Given the description of an element on the screen output the (x, y) to click on. 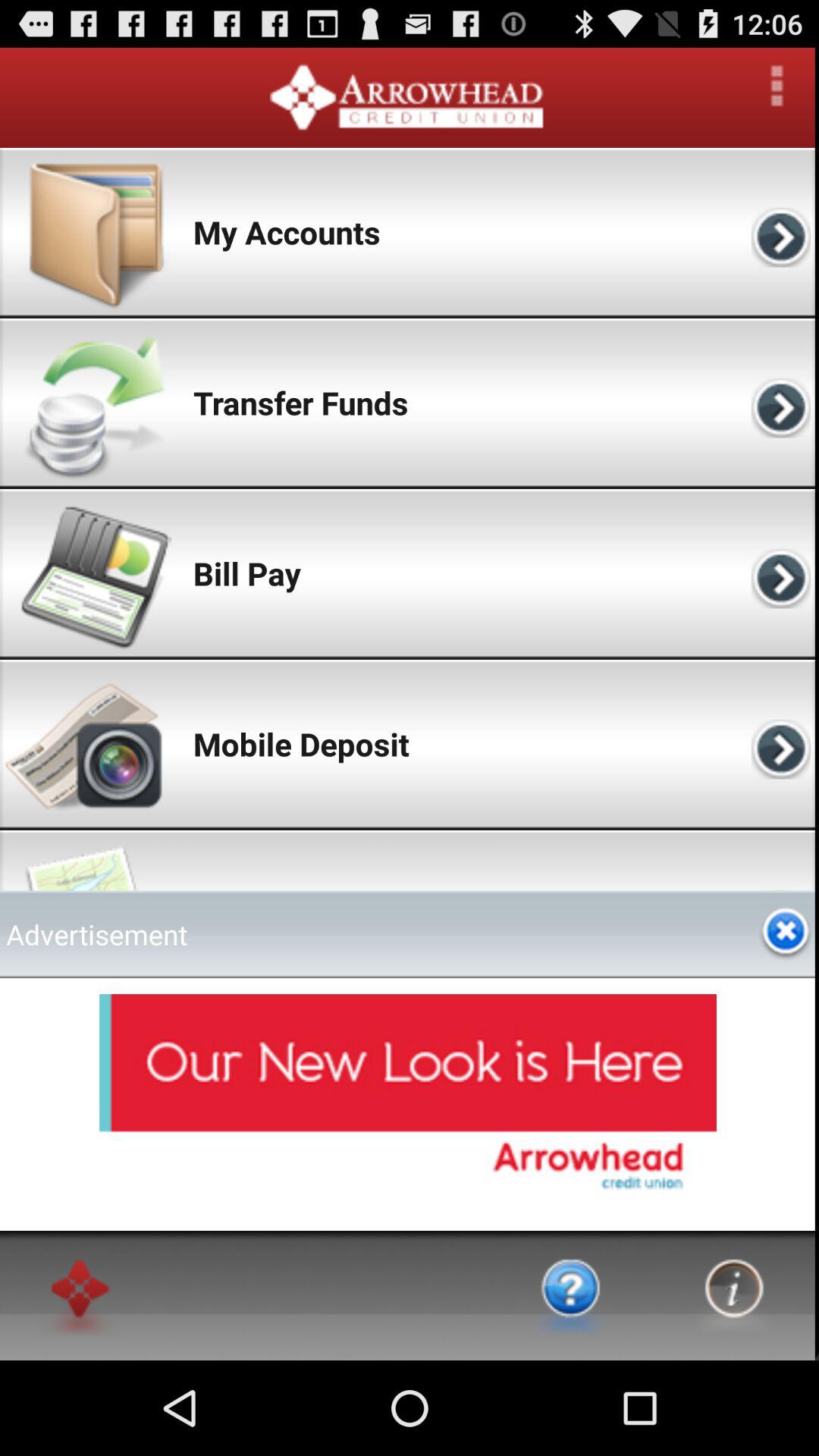
earn more about the app (571, 1295)
